Given the description of an element on the screen output the (x, y) to click on. 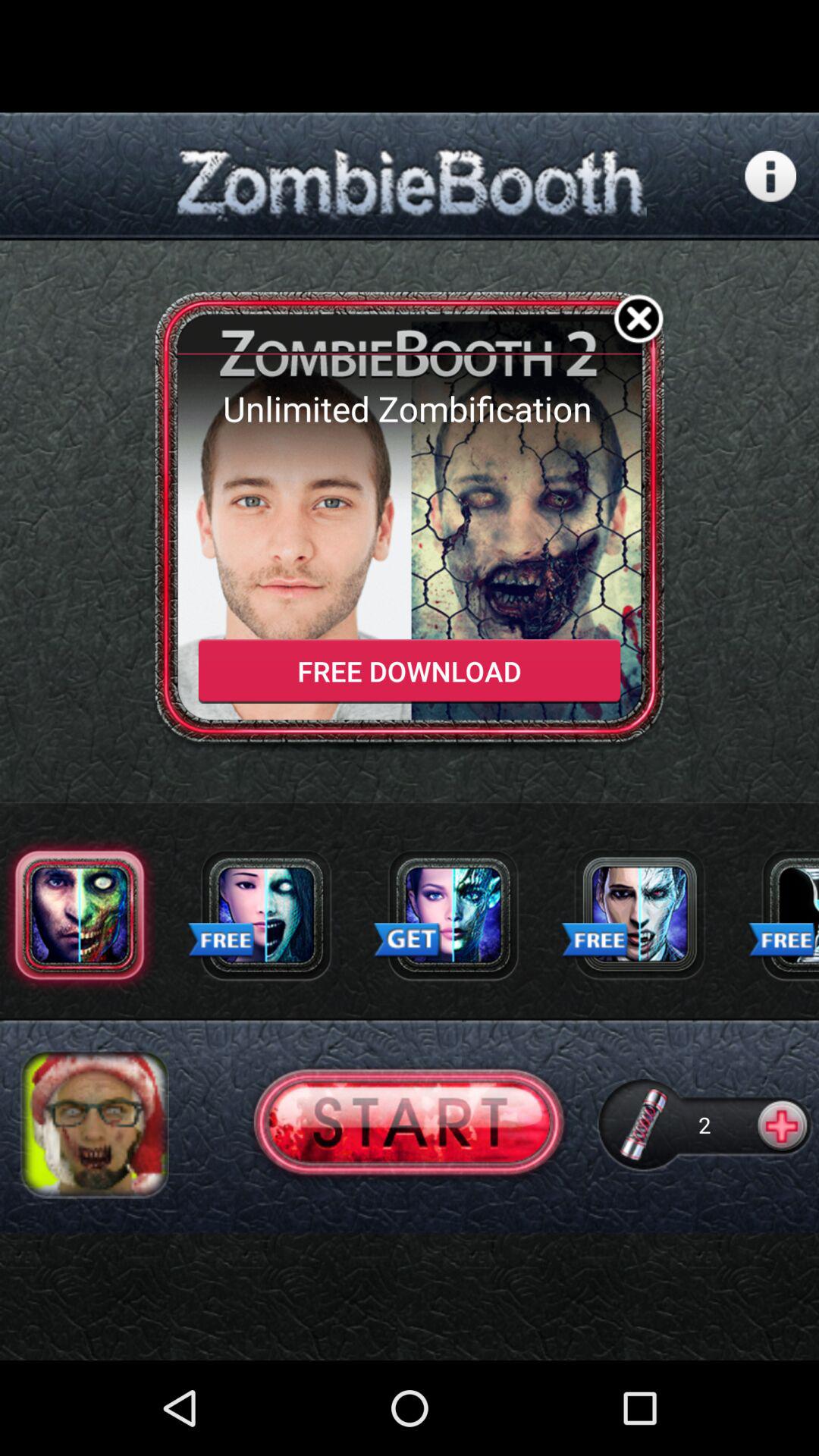
click on the image at middle of the page (409, 521)
click on get above start (408, 941)
